Given the description of an element on the screen output the (x, y) to click on. 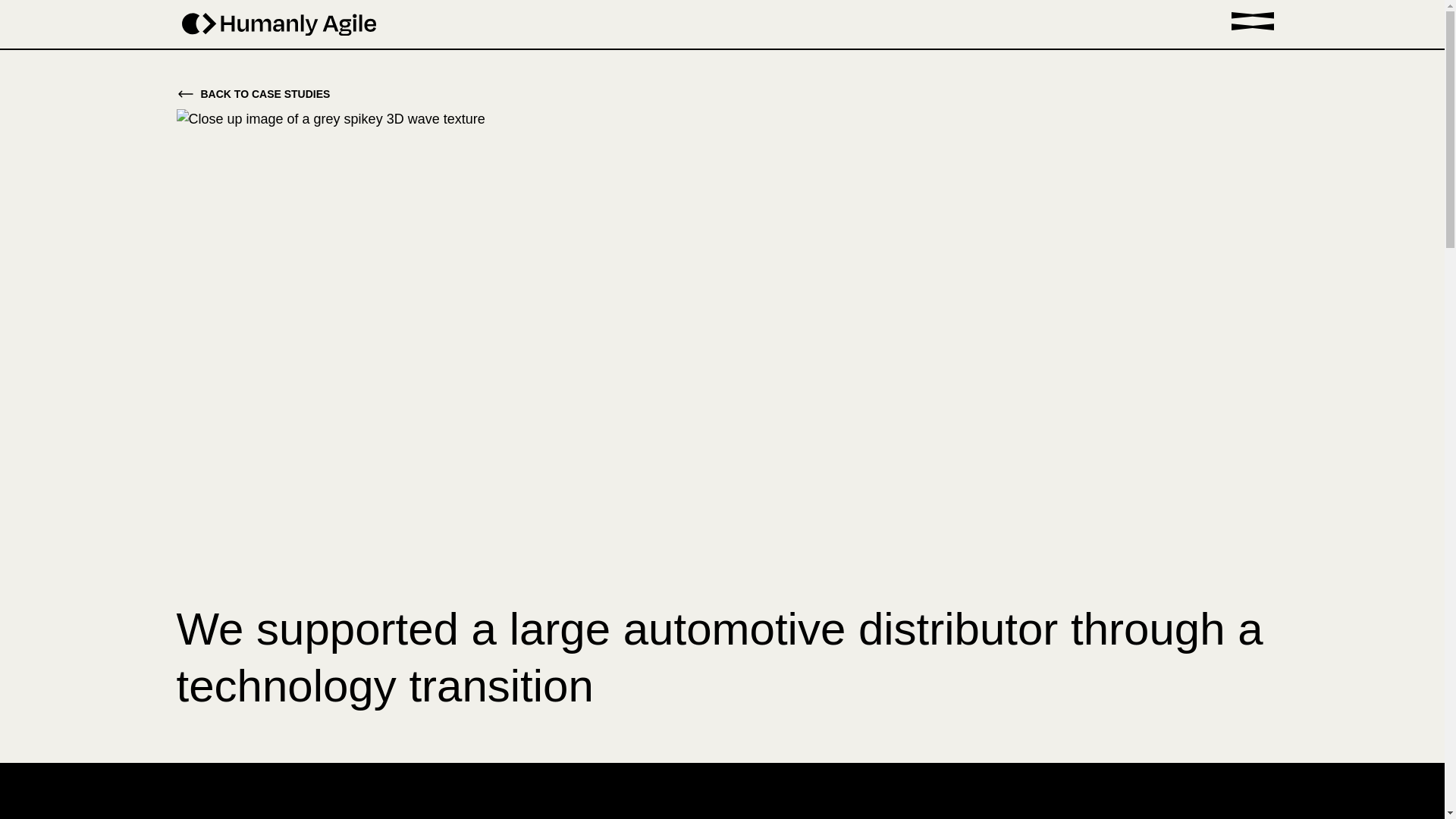
BACK TO CASE STUDIES (722, 94)
